Given the description of an element on the screen output the (x, y) to click on. 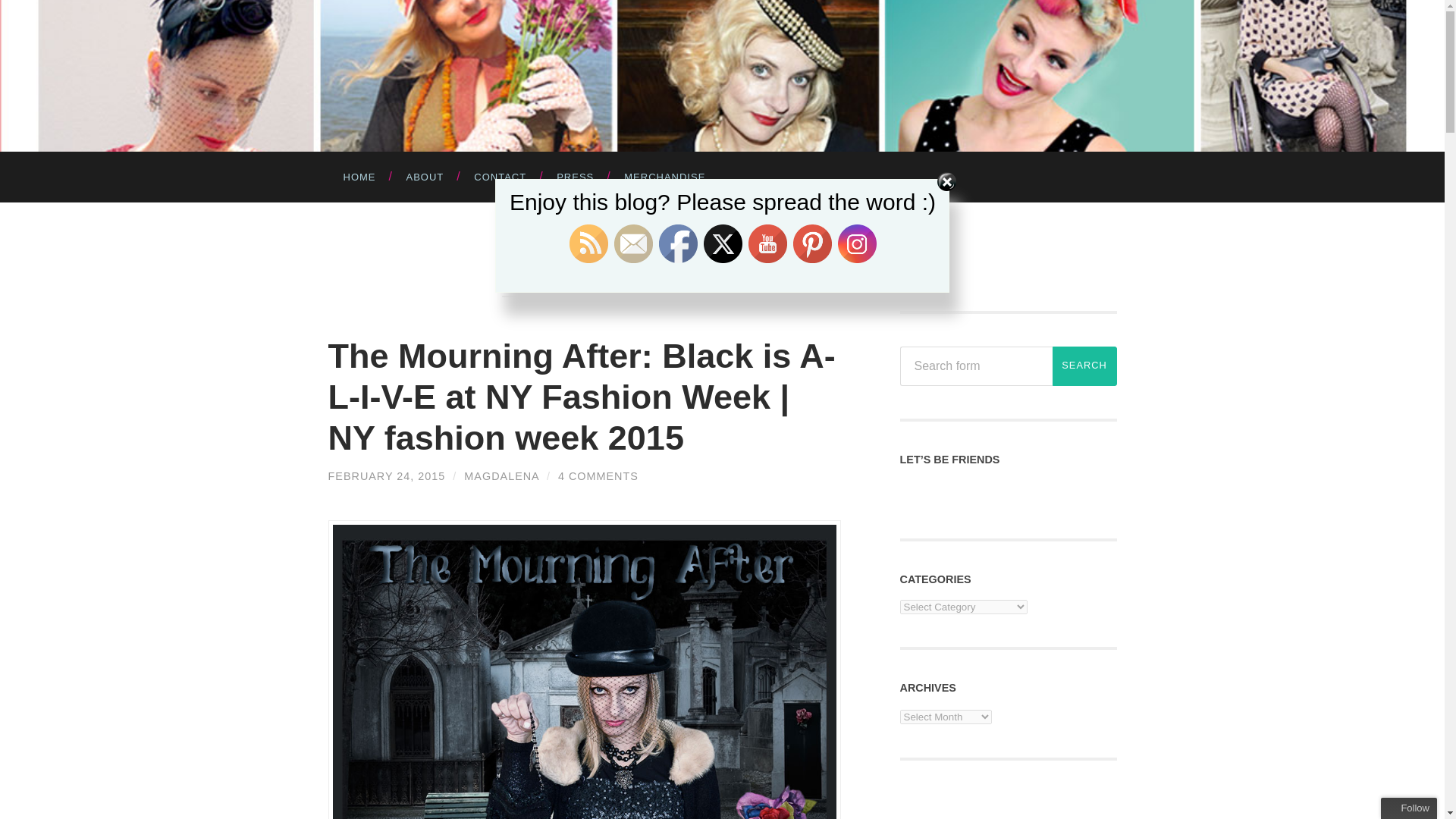
HOME (358, 176)
Advertisement (1012, 806)
4 COMMENTS (598, 476)
MAGDALENA (501, 476)
ABOUT (425, 176)
MERCHANDISE (664, 176)
FEBRUARY 24, 2015 (386, 476)
Posts by Magdalena (501, 476)
CONTACT (499, 176)
PRESS (574, 176)
Search (1084, 365)
